Given the description of an element on the screen output the (x, y) to click on. 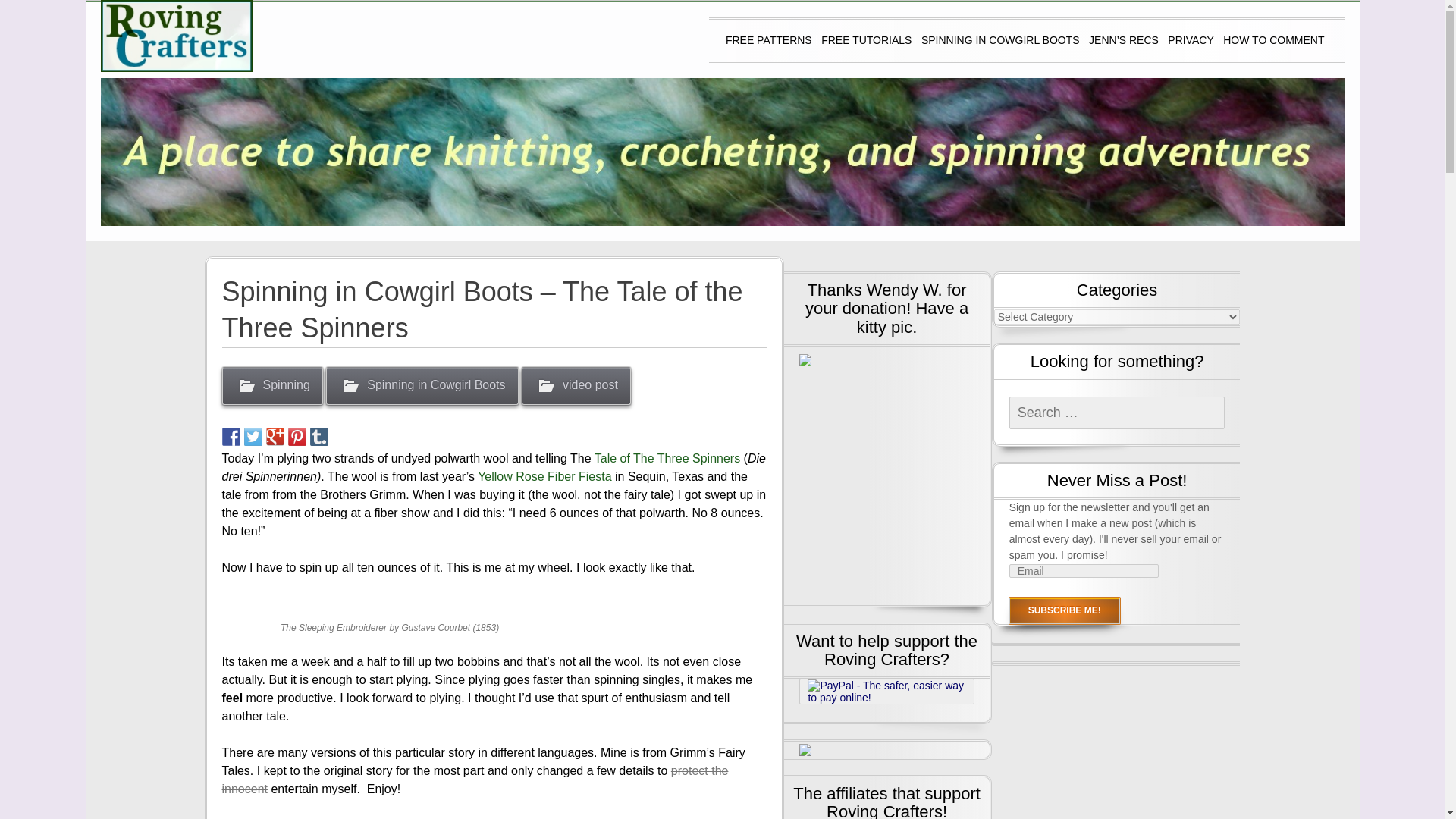
HOW TO COMMENT (1272, 40)
Share on tumblr (317, 436)
Spinning in Cowgirl Boots (422, 385)
SPINNING IN COWGIRL BOOTS (1000, 40)
Tale of The Three Spinners (666, 458)
Spinning (271, 385)
video post (575, 385)
Share on Facebook (230, 436)
Pin it with Pinterest (296, 436)
Roving Crafters (628, 32)
FREE TUTORIALS (865, 40)
PRIVACY (1190, 40)
Roving Crafters (175, 36)
Share on Twitter (253, 436)
Yellow Rose Fiber Fiesta (544, 476)
